Given the description of an element on the screen output the (x, y) to click on. 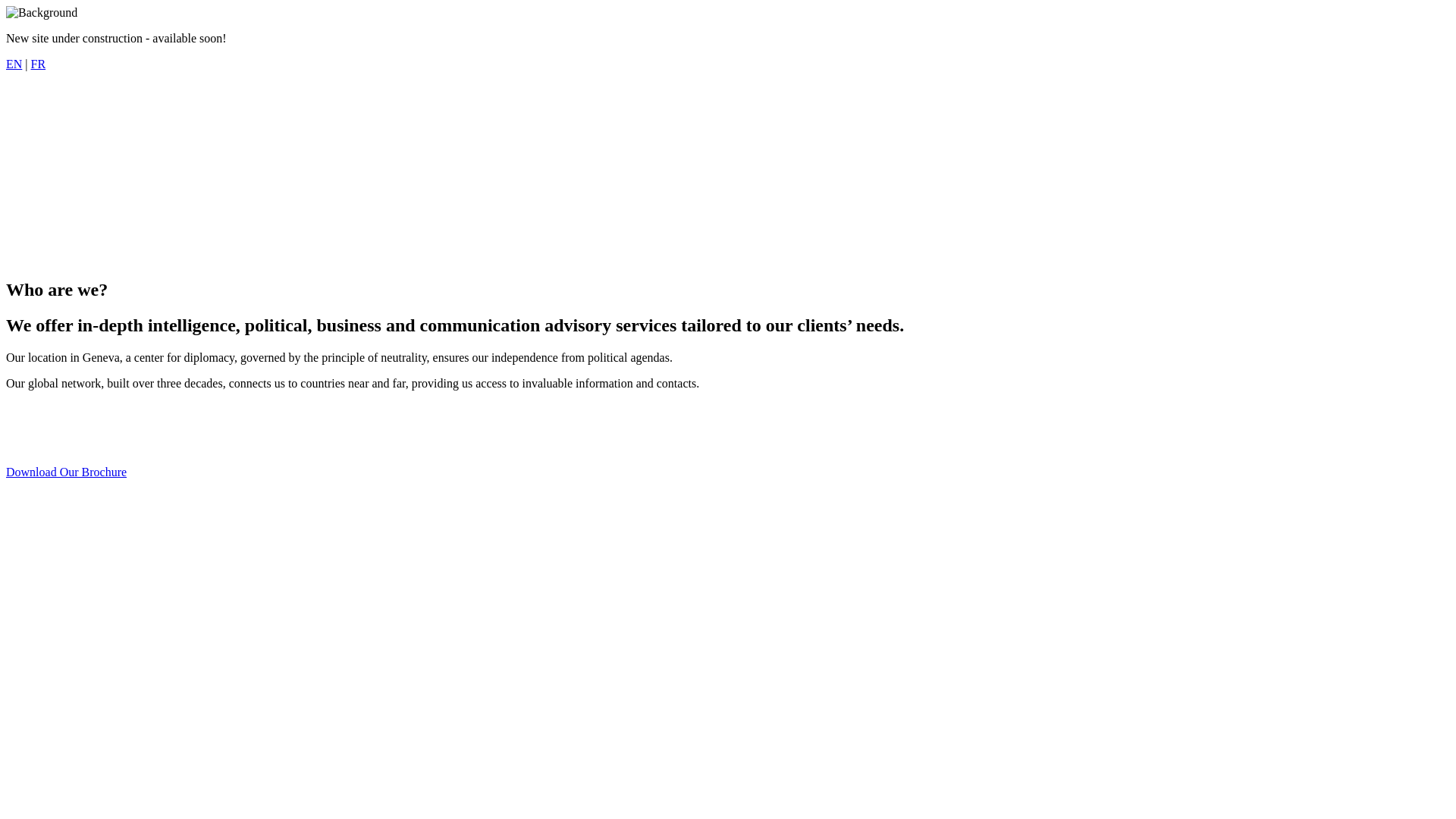
FR Element type: text (38, 63)
Download Our Brochure Element type: text (66, 471)
EN Element type: text (13, 63)
